Given the description of an element on the screen output the (x, y) to click on. 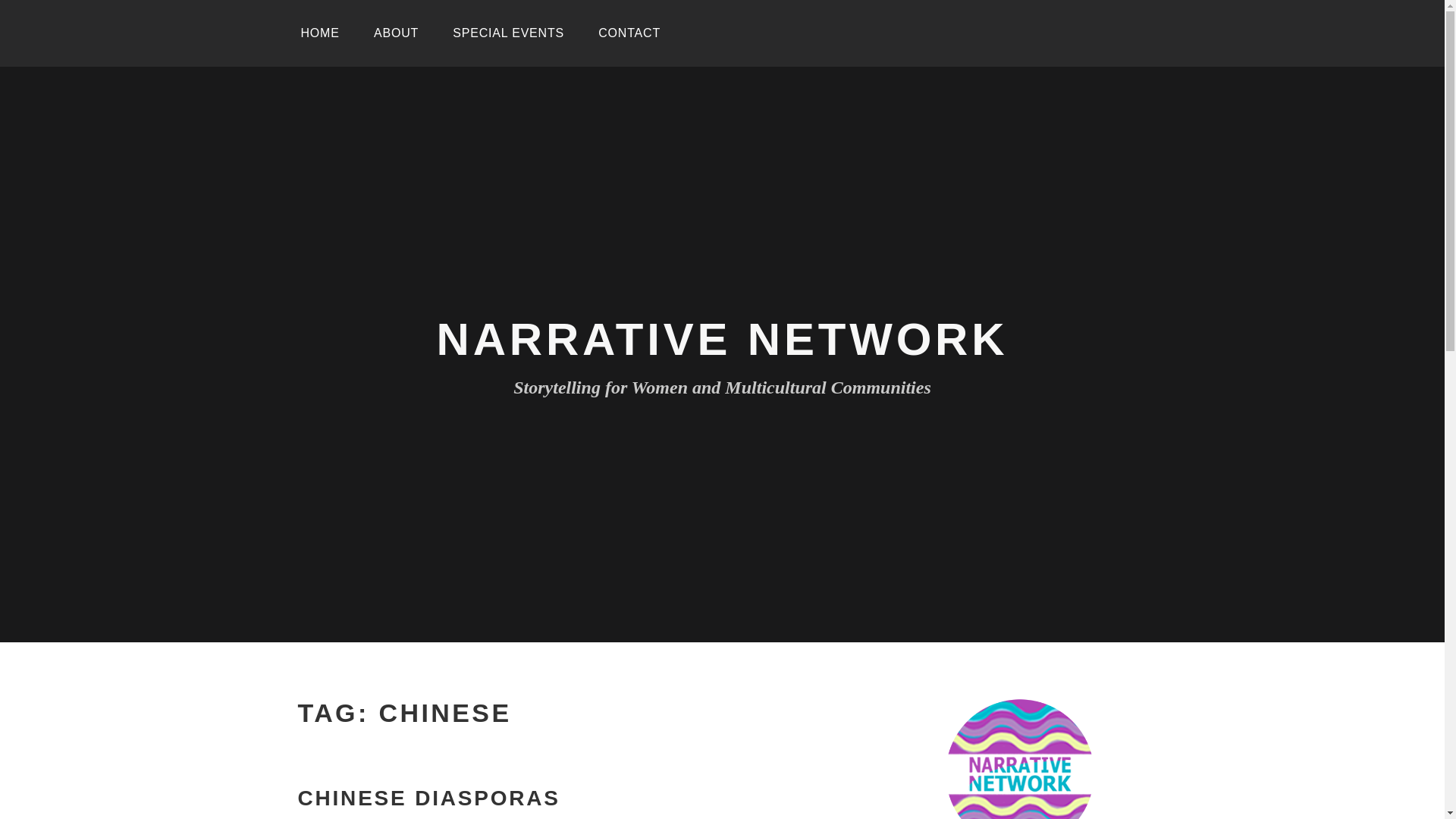
SPECIAL EVENTS (508, 33)
HOME (319, 33)
ABOUT (395, 33)
NARRATIVE NETWORK (722, 338)
CONTACT (629, 33)
CHINESE DIASPORAS (428, 798)
